Given the description of an element on the screen output the (x, y) to click on. 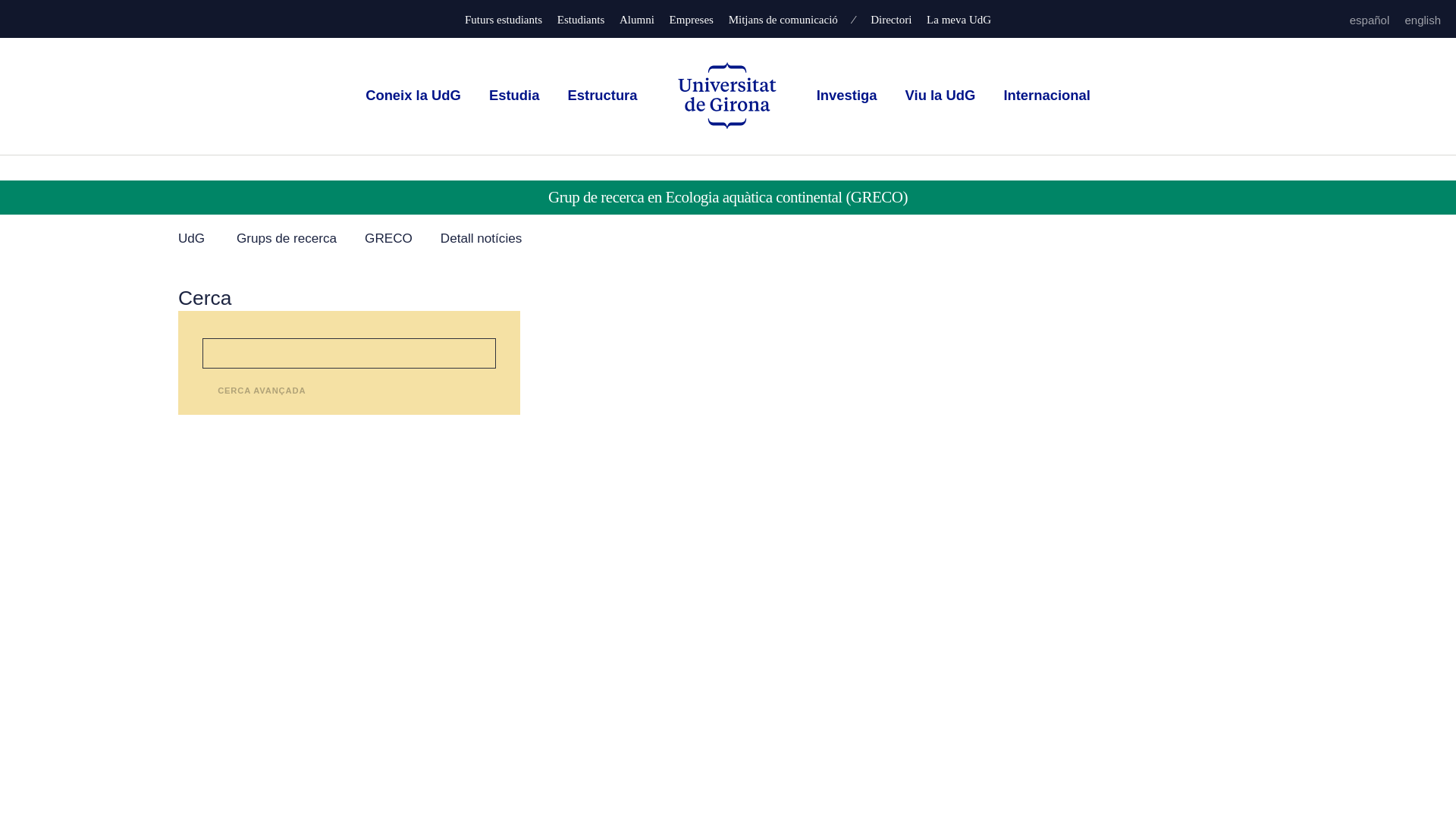
Estudiants (581, 19)
Alumni (636, 19)
Coneix la UdG (413, 94)
Empreses (691, 19)
Futurs estudiants (502, 19)
english (1423, 19)
UdG Home (727, 95)
La meva UdG (958, 19)
Directori (890, 19)
